Given the description of an element on the screen output the (x, y) to click on. 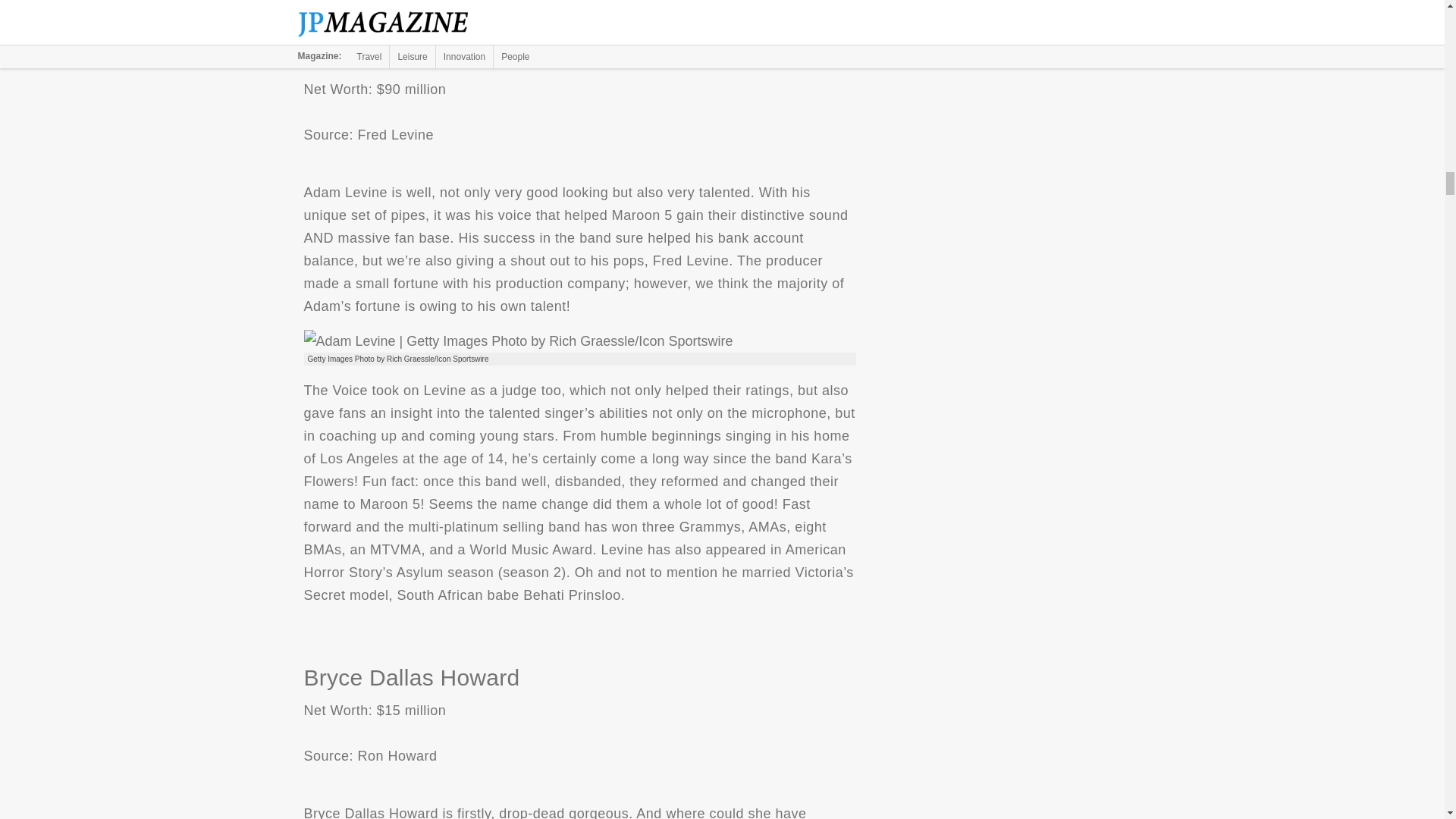
Adam Levine (517, 341)
